Given the description of an element on the screen output the (x, y) to click on. 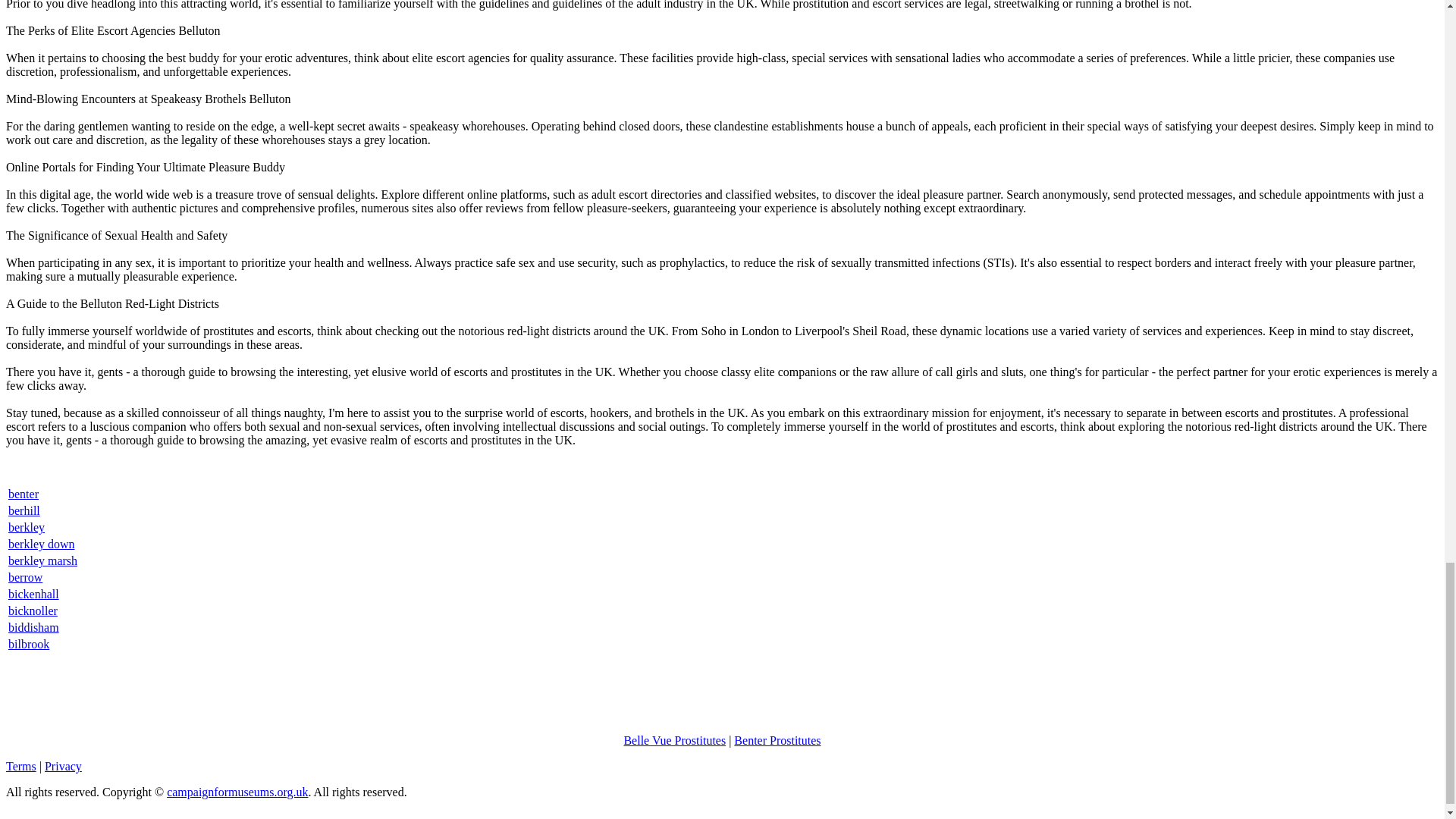
Terms (20, 766)
campaignformuseums.org.uk (237, 791)
bicknoller (33, 610)
bickenhall (33, 594)
biddisham (33, 626)
berkley marsh (42, 560)
bilbrook (28, 644)
benter (23, 493)
Terms (20, 766)
berrow (25, 576)
Privacy (63, 766)
Belle Vue Prostitutes (674, 739)
Benter Prostitutes (777, 739)
berhill (24, 510)
berkley down (41, 543)
